Given the description of an element on the screen output the (x, y) to click on. 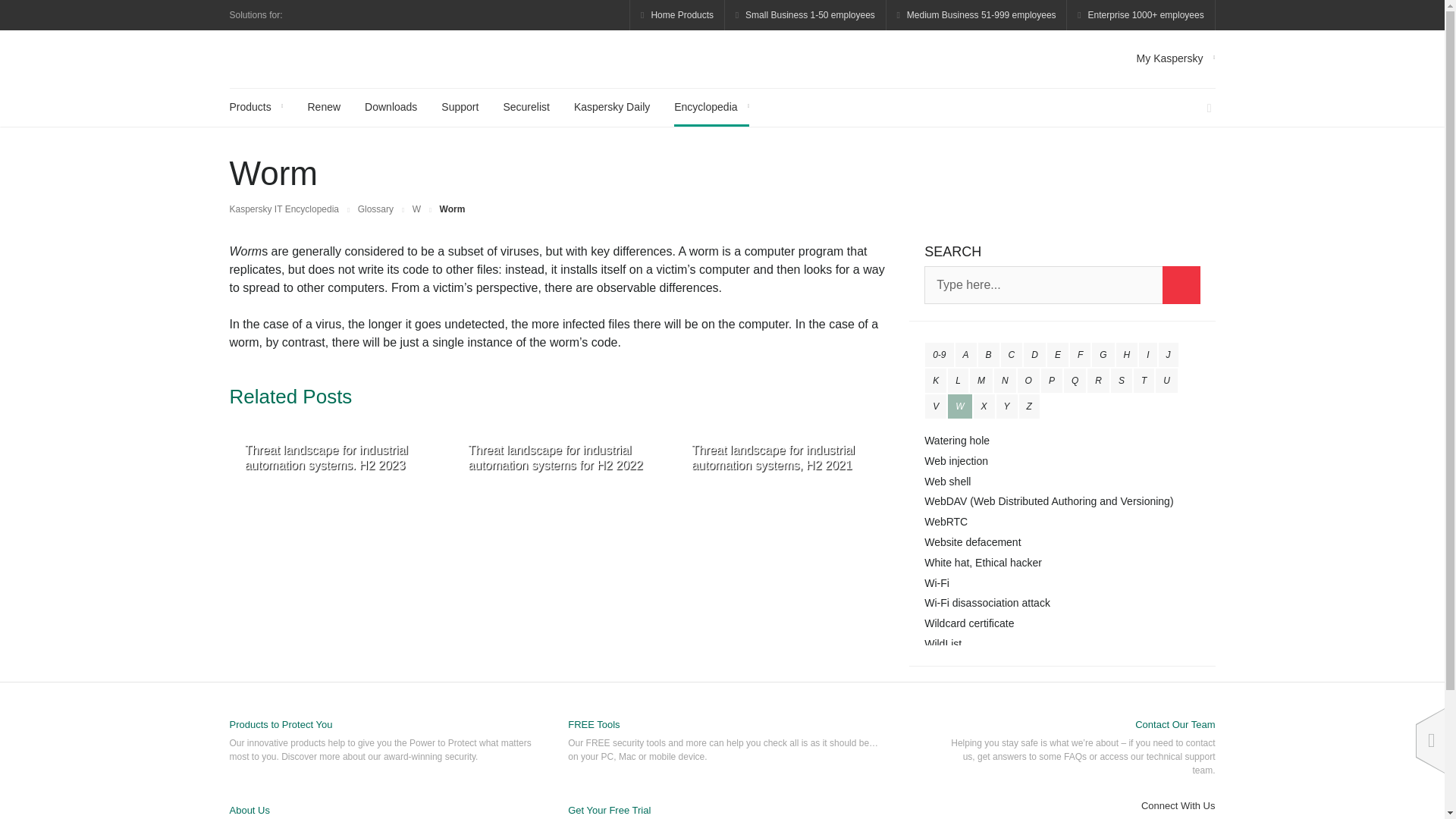
Kaspersky Daily (611, 107)
Small Business 1-50 employees (805, 15)
font-icons icon-small-business (805, 15)
Securelist (525, 107)
Medium Business 51-999 employees (976, 15)
Downloads (390, 107)
Kaspersky IT Encyclopedia (300, 57)
My Kaspersky (1176, 58)
Type here... (1061, 284)
Products (255, 107)
